Given the description of an element on the screen output the (x, y) to click on. 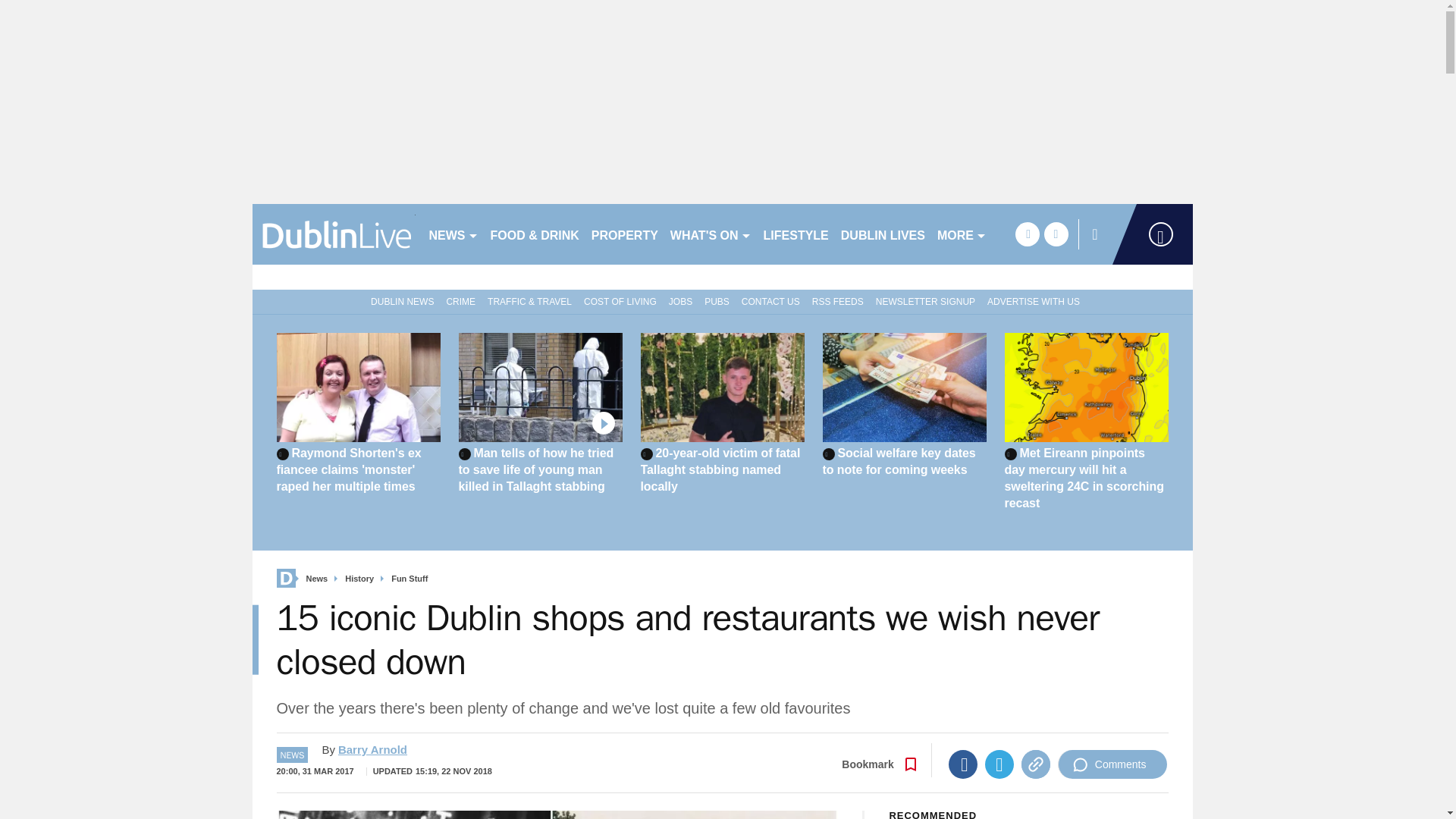
Facebook (962, 764)
dublinlive (332, 233)
Comments (1112, 764)
MORE (961, 233)
PROPERTY (624, 233)
DUBLIN LIVES (882, 233)
NEWS (453, 233)
LIFESTYLE (795, 233)
Twitter (999, 764)
facebook (1026, 233)
twitter (1055, 233)
WHAT'S ON (710, 233)
